Given the description of an element on the screen output the (x, y) to click on. 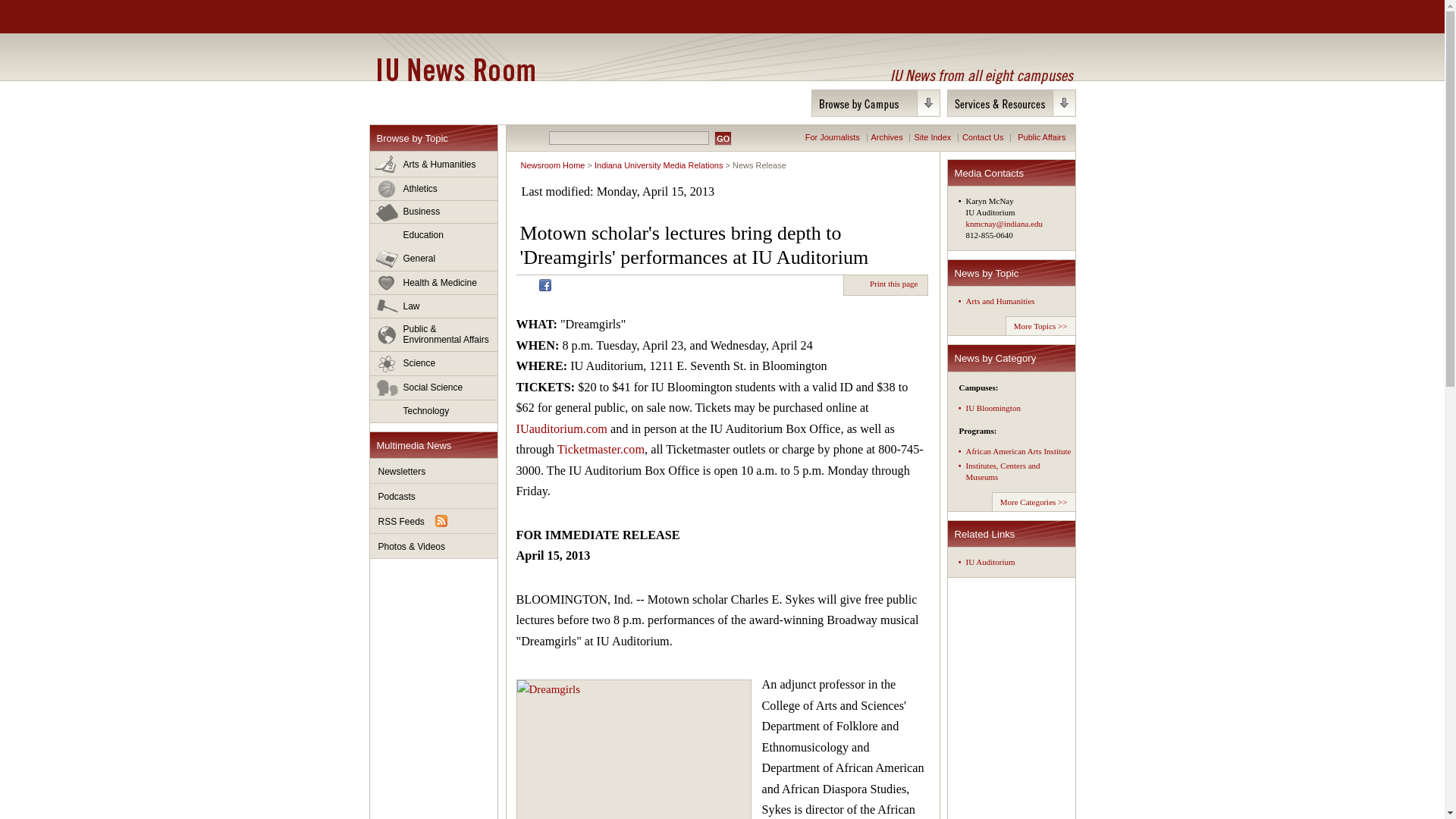
Athletics (433, 188)
Athletics (433, 188)
Newsletters (433, 471)
Business (433, 211)
RSS Feeds (433, 520)
IU News Room (455, 69)
Business (433, 211)
Science (433, 363)
IU News Room (455, 69)
Law (433, 306)
Education (433, 235)
Social Science (433, 387)
Podcasts (433, 496)
General (433, 259)
Indiana University (448, 16)
